Given the description of an element on the screen output the (x, y) to click on. 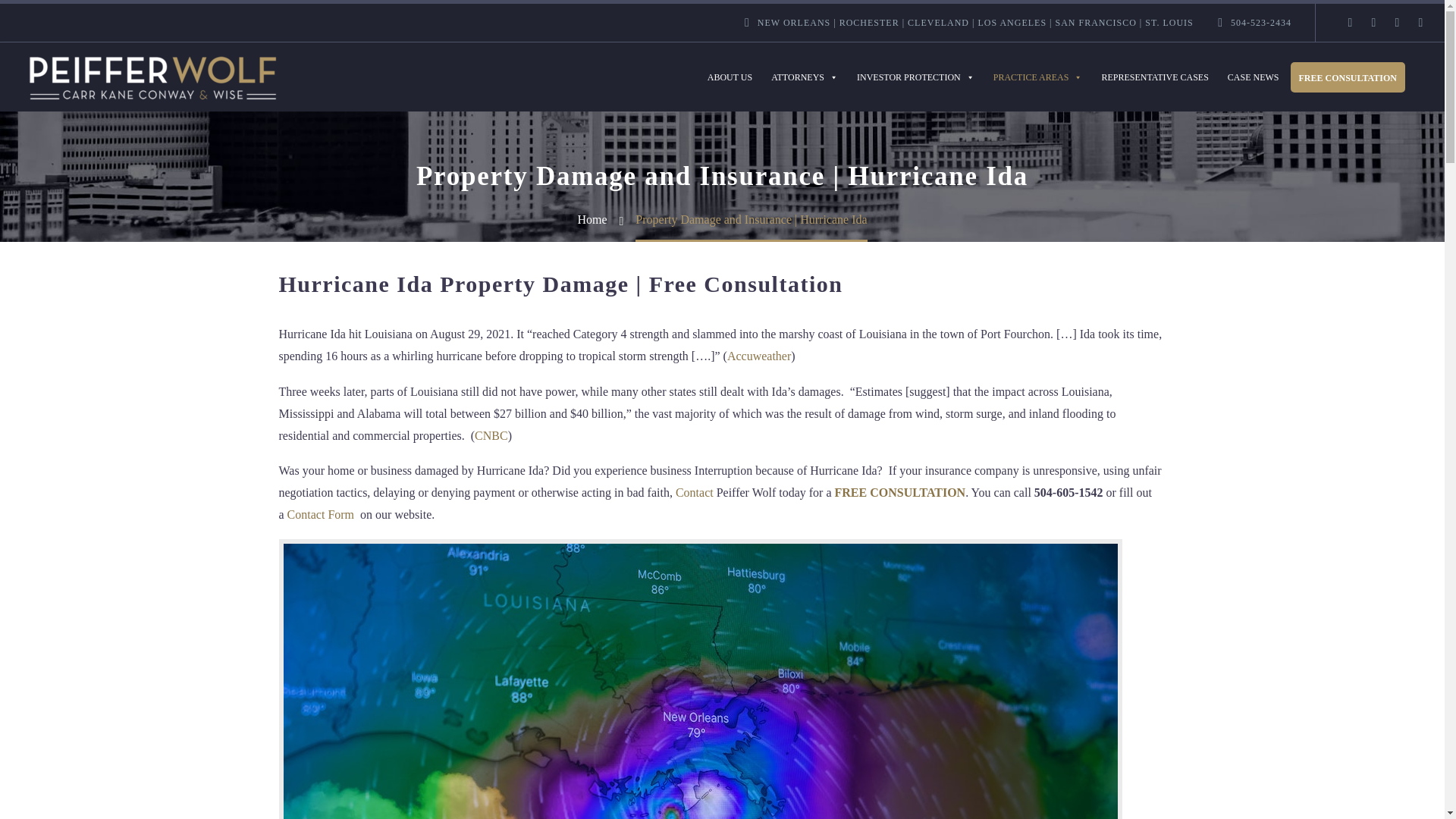
ABOUT US (730, 76)
ATTORNEYS (803, 76)
Facebook (1350, 22)
INVESTOR PROTECTION (914, 76)
504-523-2434 (1260, 22)
YouTube (1420, 22)
Twitter (1397, 22)
LinkedIn (1374, 22)
